Given the description of an element on the screen output the (x, y) to click on. 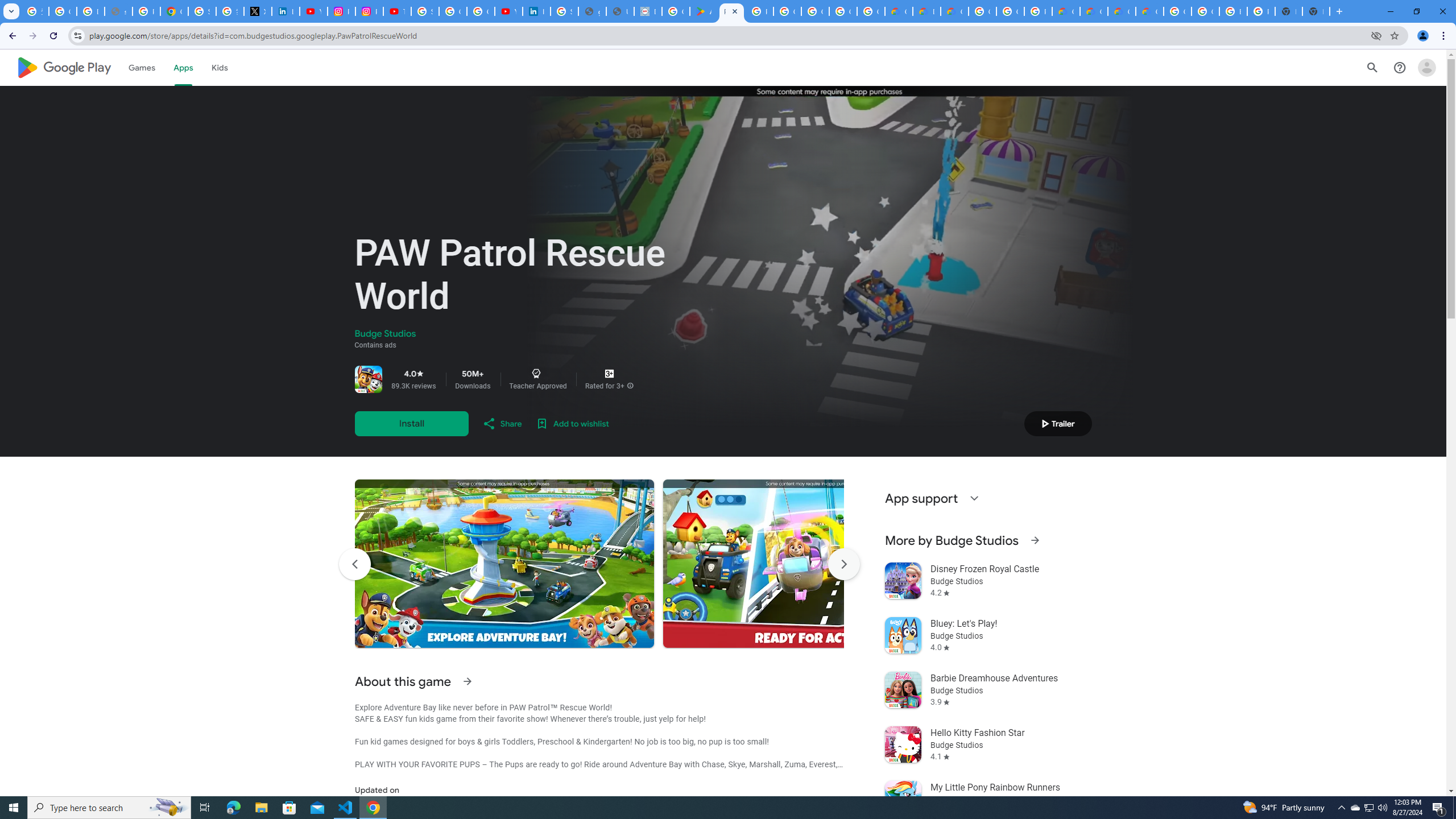
See more information on About this game (466, 681)
Sign in - Google Accounts (202, 11)
Google Cloud Platform (982, 11)
Content rating (609, 373)
Play trailer (1058, 423)
Budge Studios (384, 333)
